Given the description of an element on the screen output the (x, y) to click on. 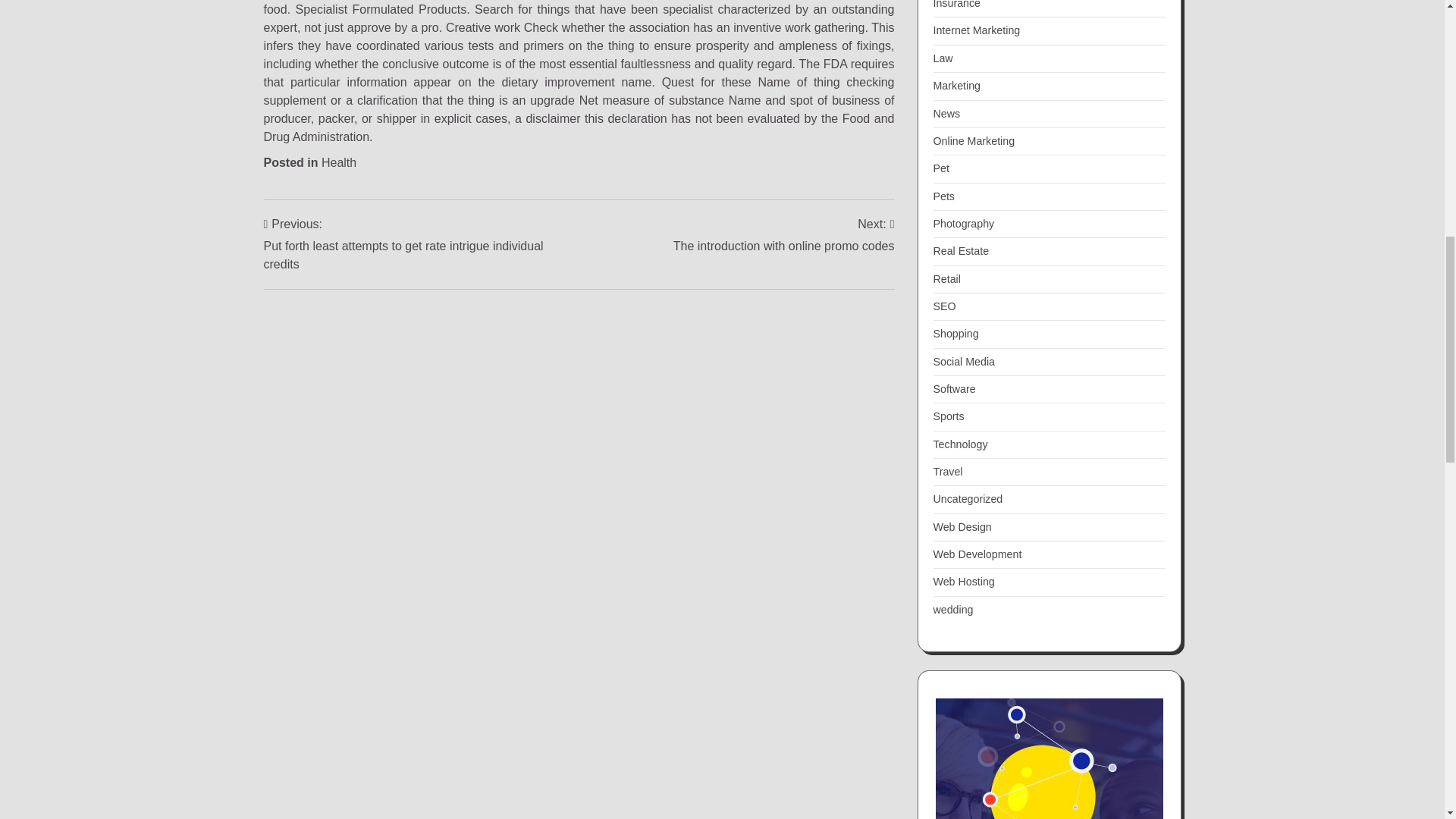
Insurance (956, 4)
Health (338, 162)
Law (942, 58)
Internet Marketing (783, 235)
